Given the description of an element on the screen output the (x, y) to click on. 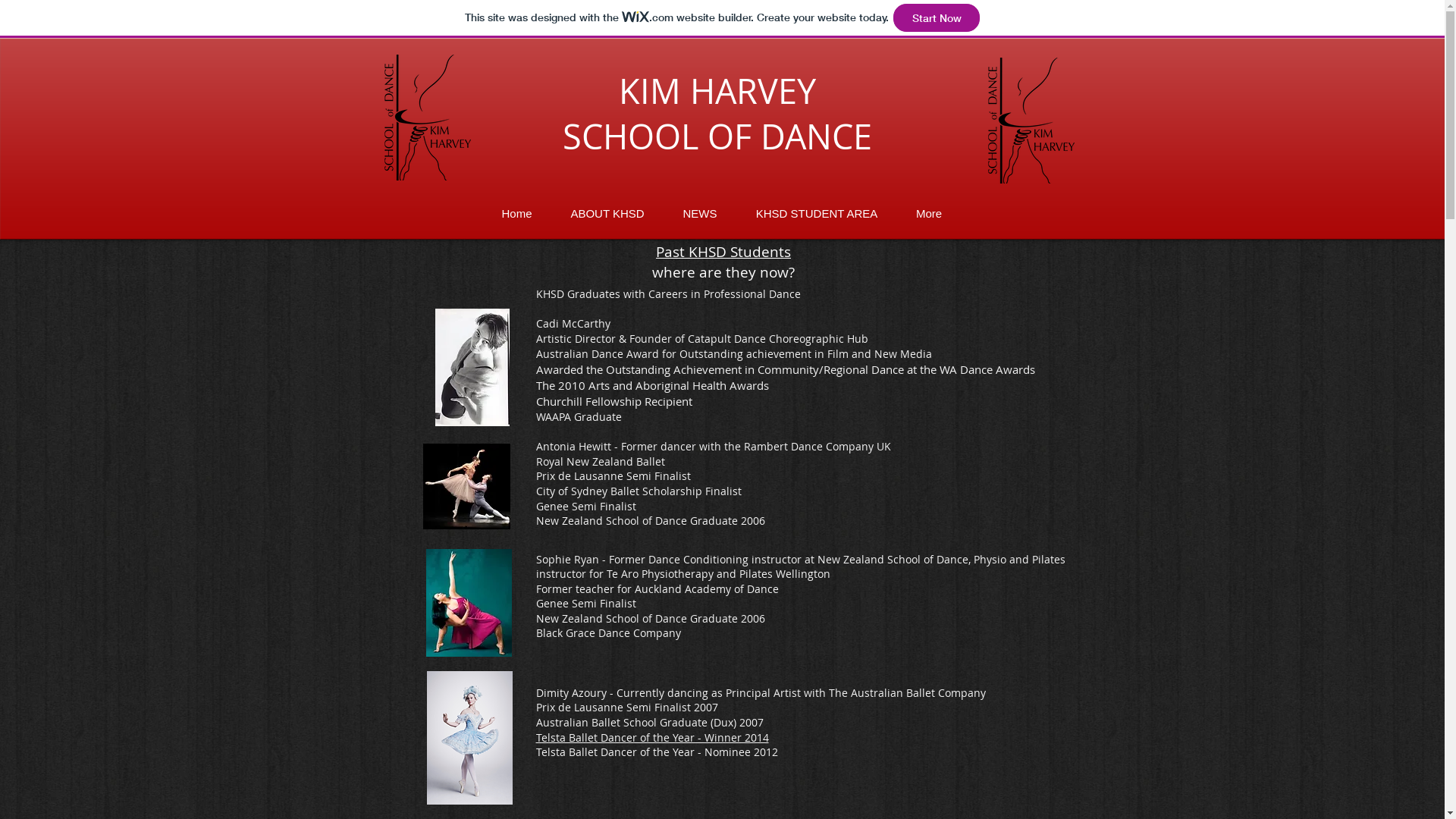
NEWS Element type: text (700, 212)
SophieRyandancing2.jpg Element type: hover (468, 602)
KHSD STUDENT AREA Element type: text (817, 212)
Telsta Ballet Dancer of the Year - Winner 2014 Element type: text (651, 737)
Home Element type: text (516, 212)
the-australian-ballet-2016-coppelia-dimity-azoury_edited.jpg Element type: hover (468, 737)
ABOUT KHSD Element type: text (607, 212)
